Given the description of an element on the screen output the (x, y) to click on. 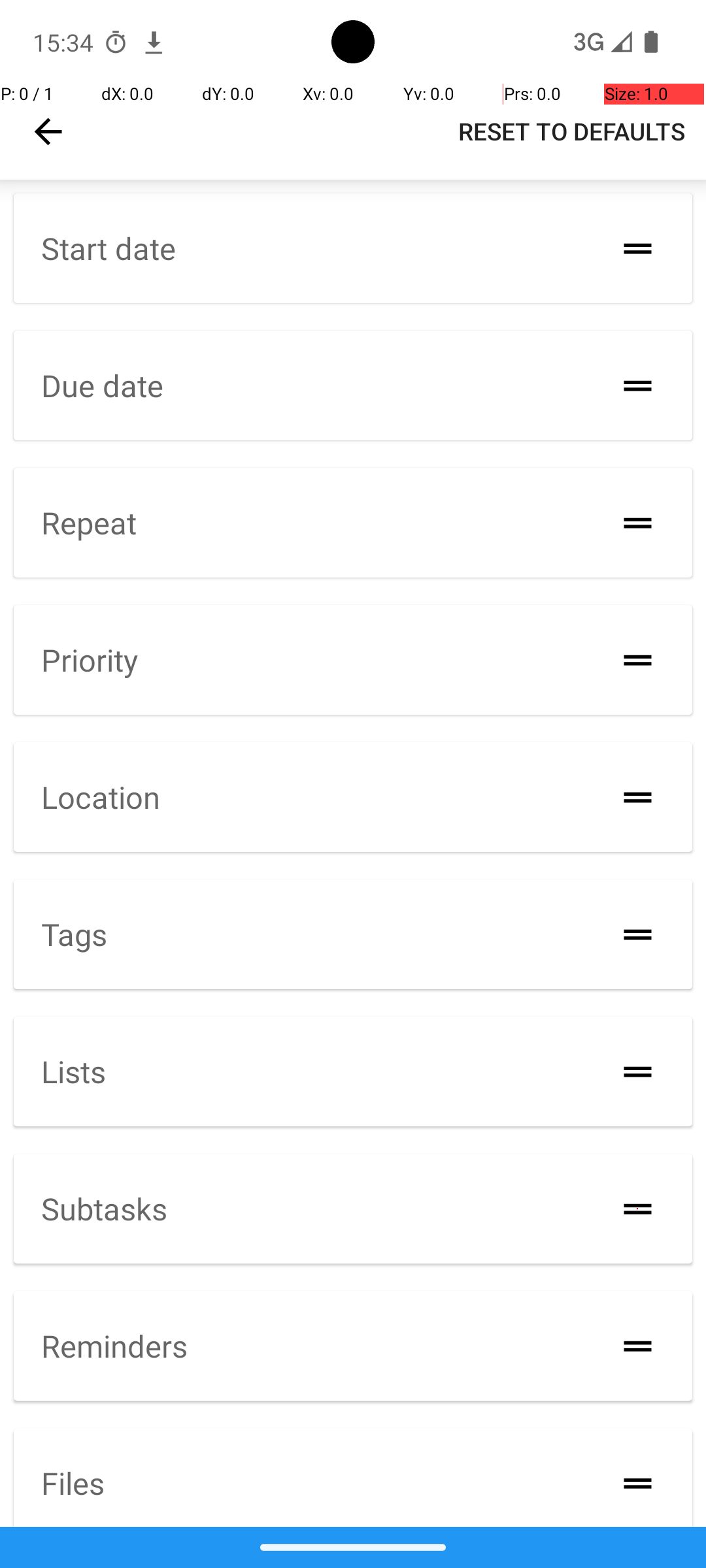
RESET TO DEFAULTS Element type: android.widget.Button (571, 131)
Start date Element type: android.widget.TextView (108, 247)
Lists Element type: android.widget.TextView (73, 1070)
Reminders Element type: android.widget.TextView (114, 1345)
